Given the description of an element on the screen output the (x, y) to click on. 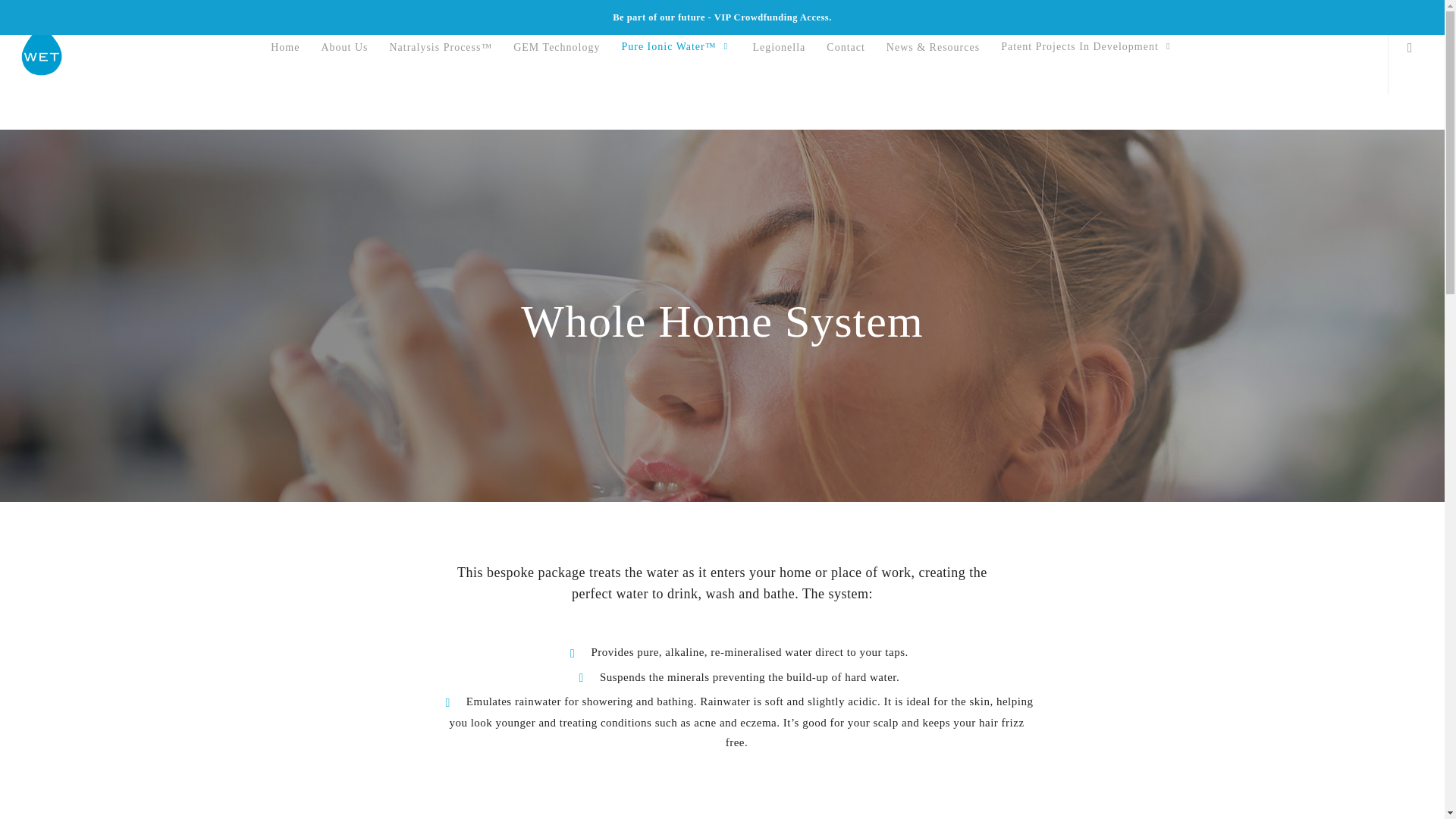
About Us (344, 47)
Home (285, 47)
Contact (845, 47)
Patent Projects In Development (1087, 46)
GEM Technology (556, 47)
Be part of our future - VIP Crowdfunding Access. (721, 17)
Legionella (778, 47)
